Given the description of an element on the screen output the (x, y) to click on. 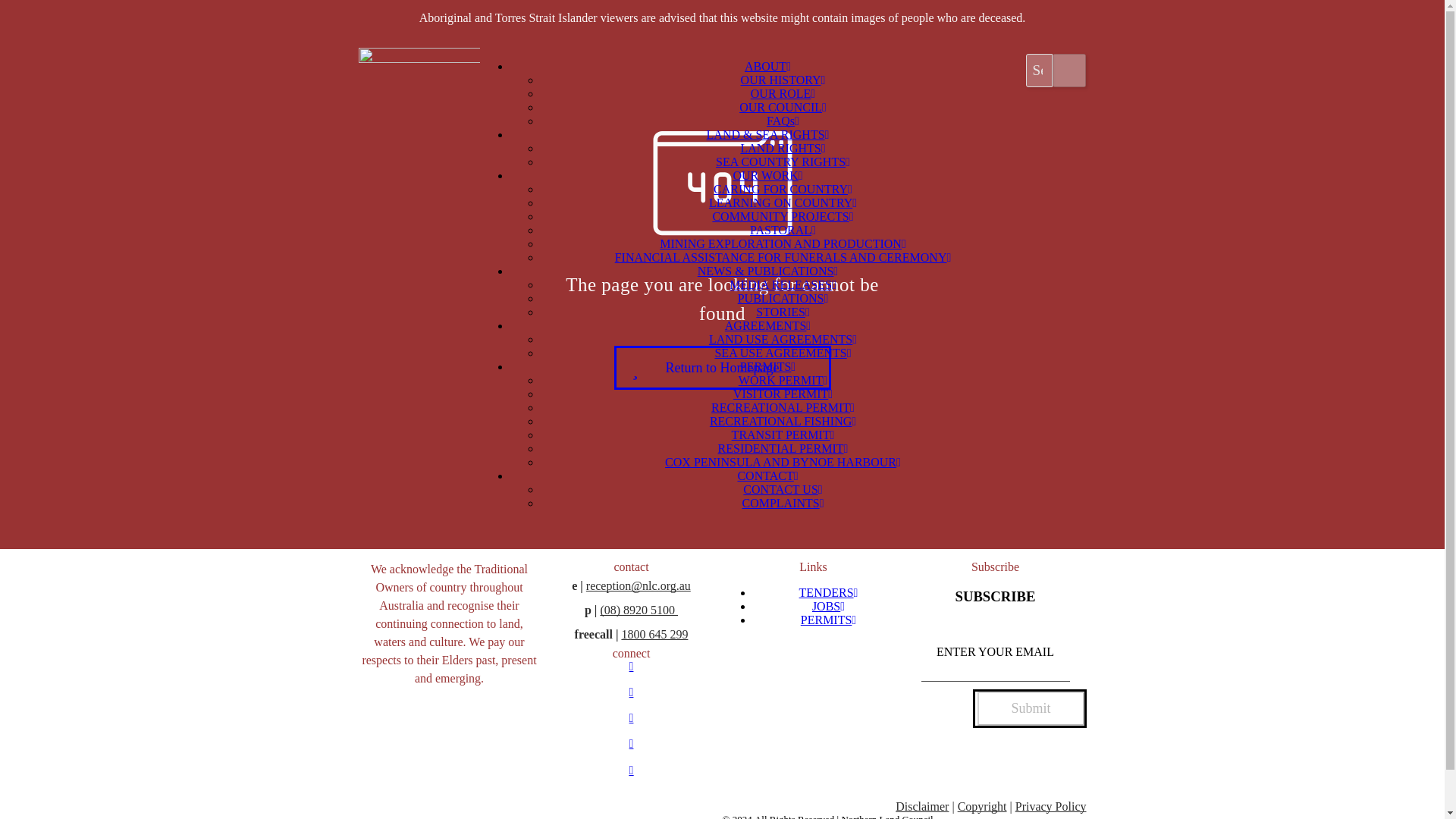
Submit (1030, 708)
